Given the description of an element on the screen output the (x, y) to click on. 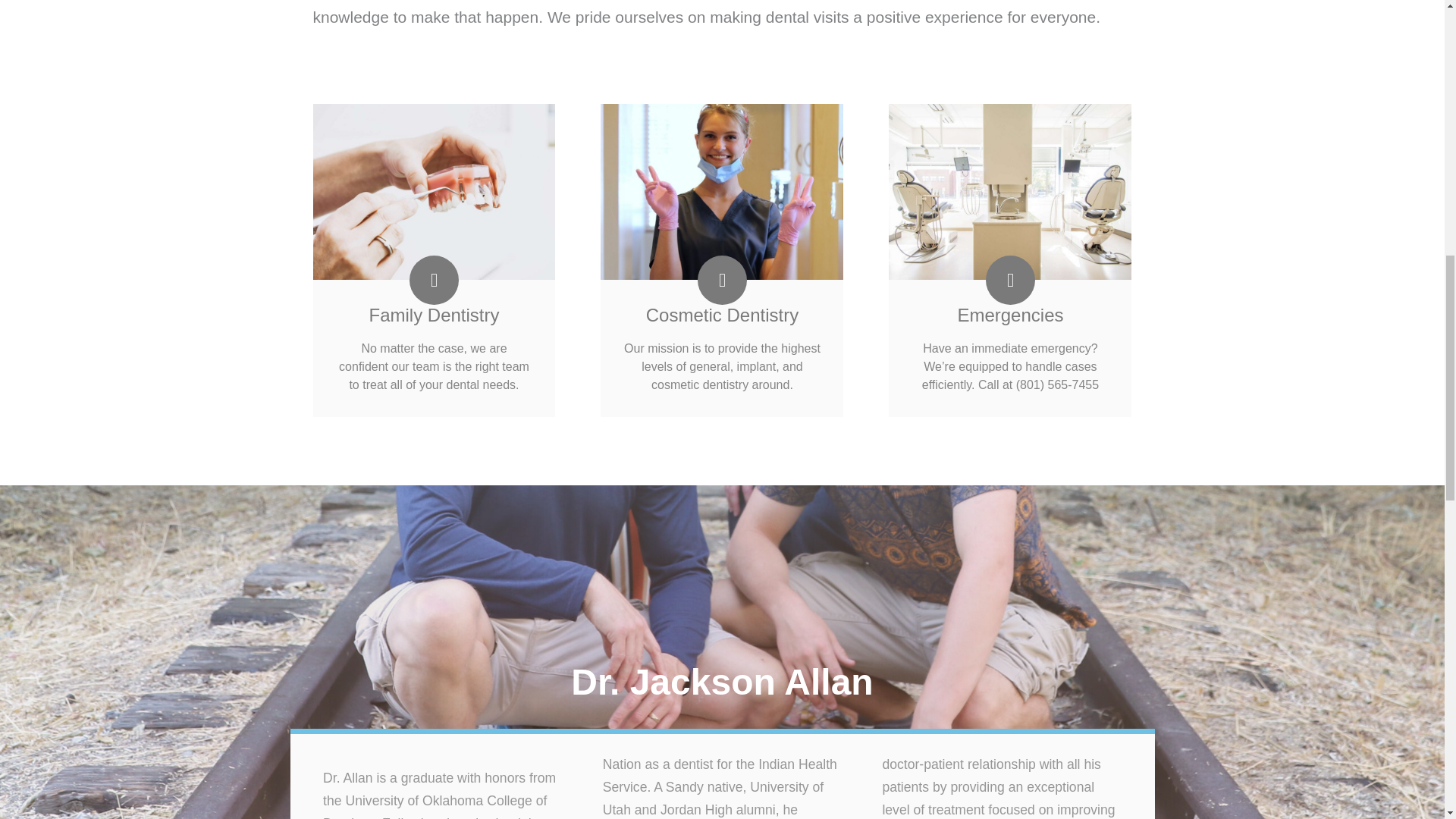
image-5 (1009, 194)
image-4 (433, 194)
